Given the description of an element on the screen output the (x, y) to click on. 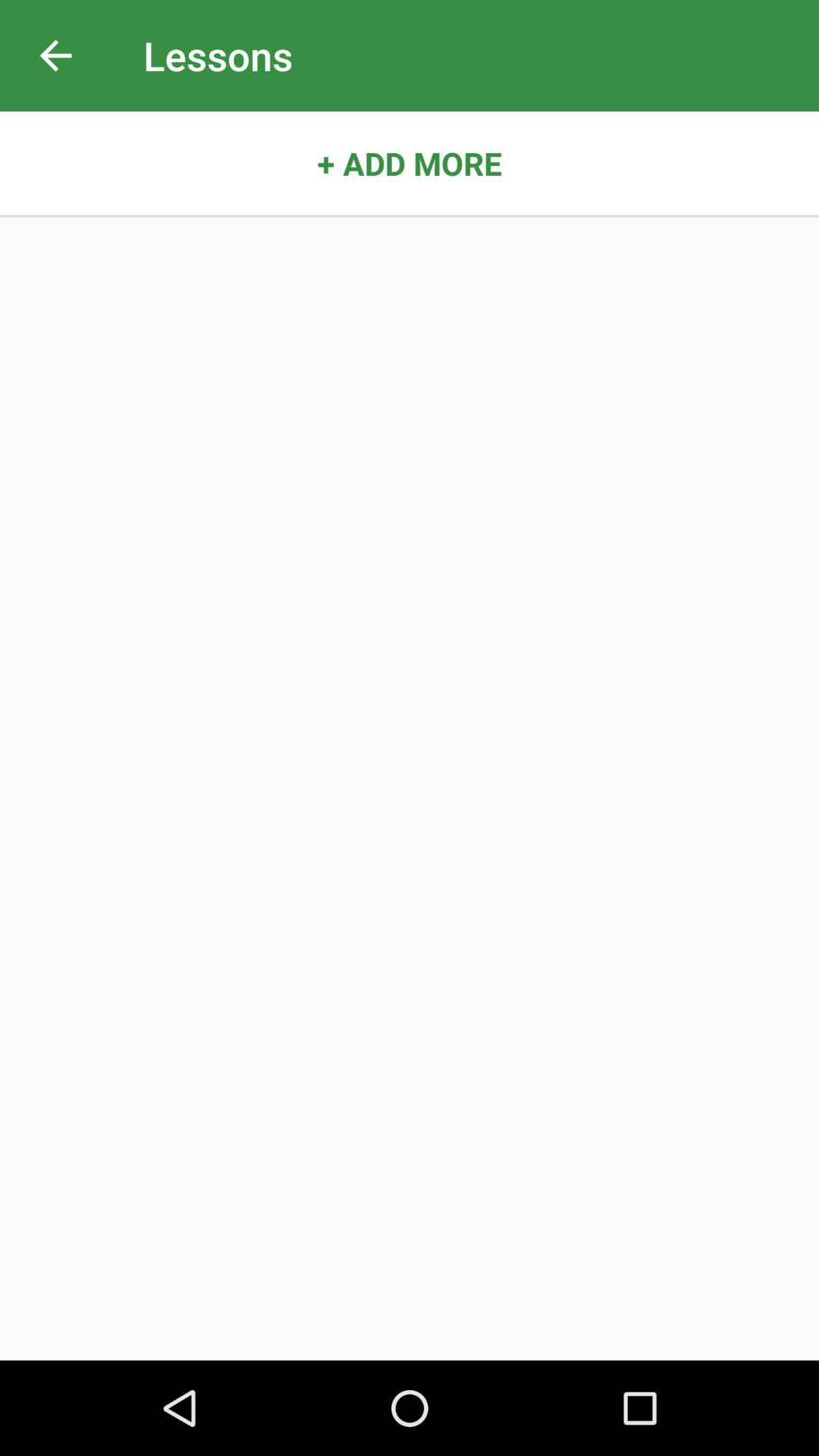
click icon next to lessons item (55, 55)
